Given the description of an element on the screen output the (x, y) to click on. 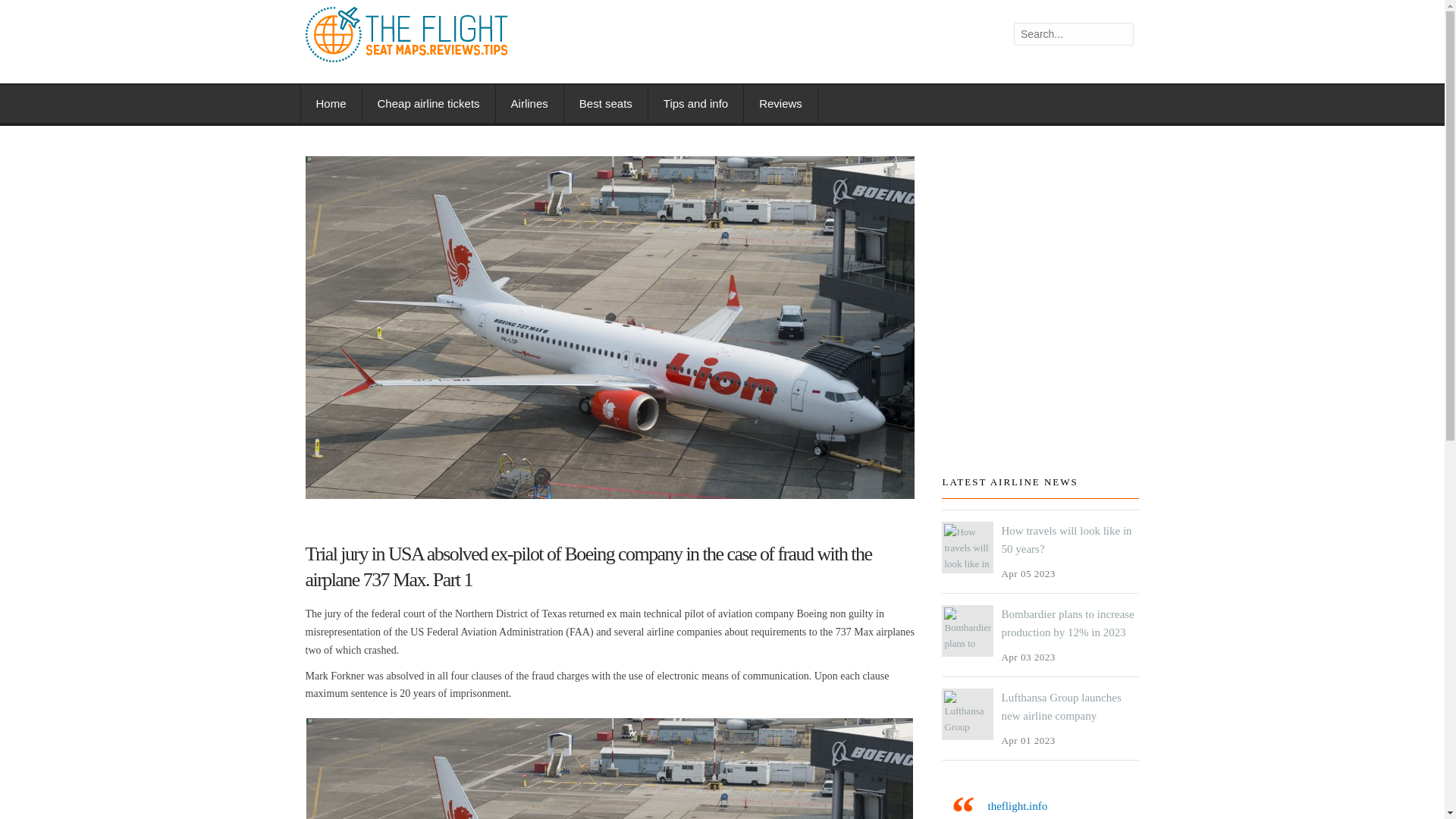
Best seats (605, 103)
Home (330, 103)
Reviews (781, 103)
How travels will look like in 50 years? (1066, 539)
theflight.info (1016, 806)
Cheap airline tickets (429, 103)
Lufthansa Group launches new airline company (1061, 706)
Tips and info (695, 103)
Airlines (530, 103)
